Given the description of an element on the screen output the (x, y) to click on. 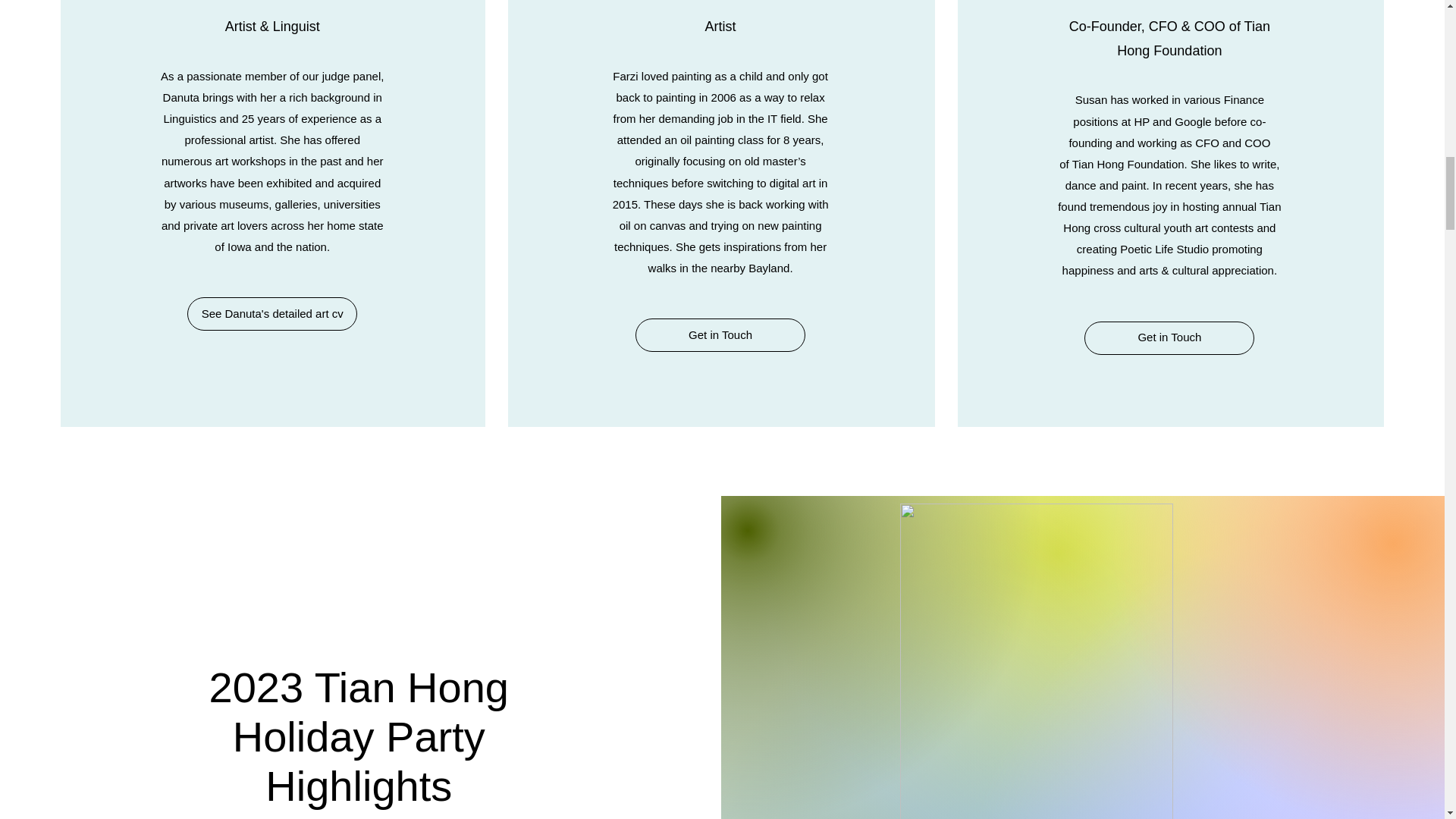
See Danuta's detailed art cv (271, 313)
Get in Touch (1168, 337)
Get in Touch (719, 335)
